Given the description of an element on the screen output the (x, y) to click on. 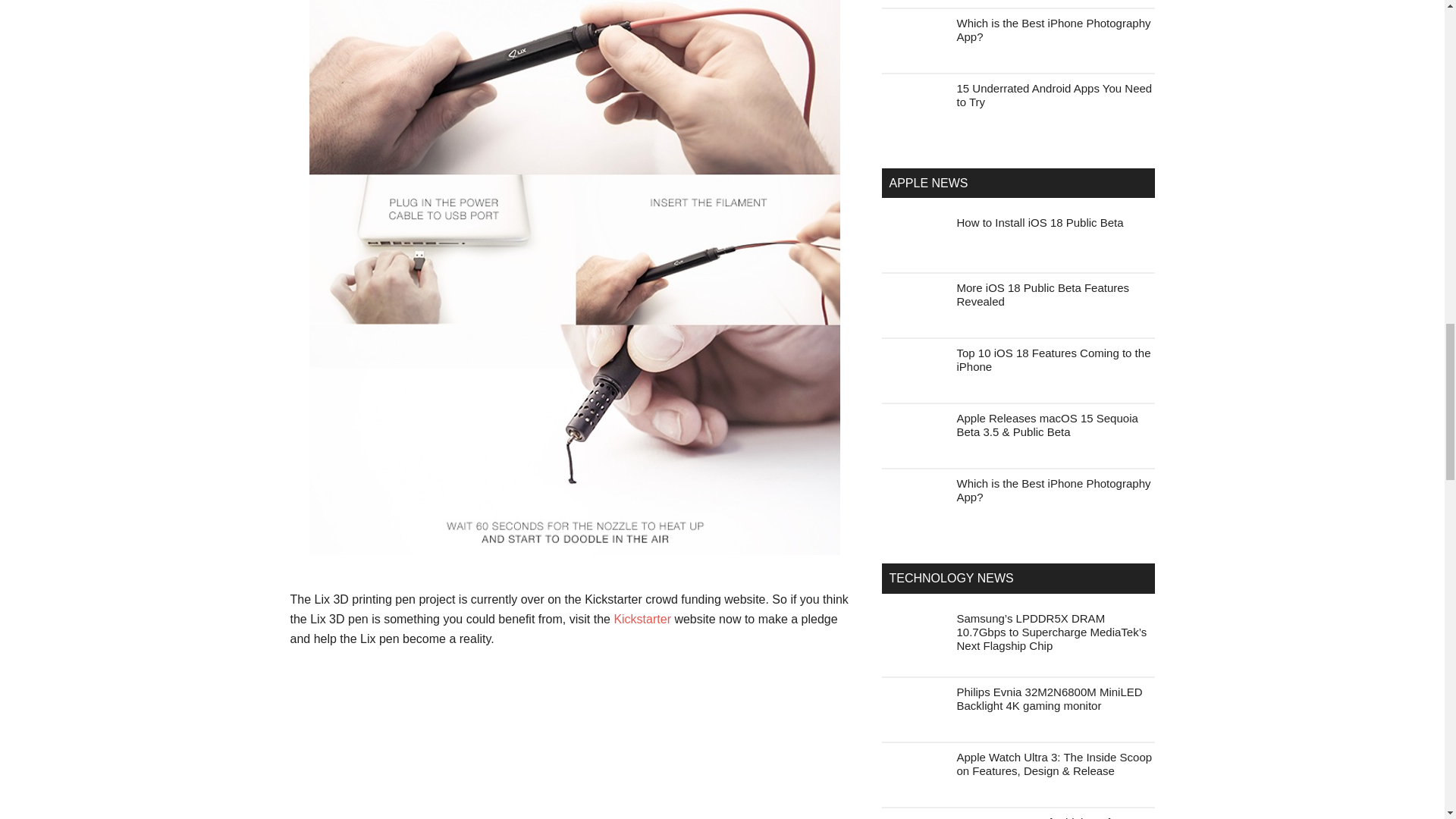
Kickstarter (641, 618)
